Given the description of an element on the screen output the (x, y) to click on. 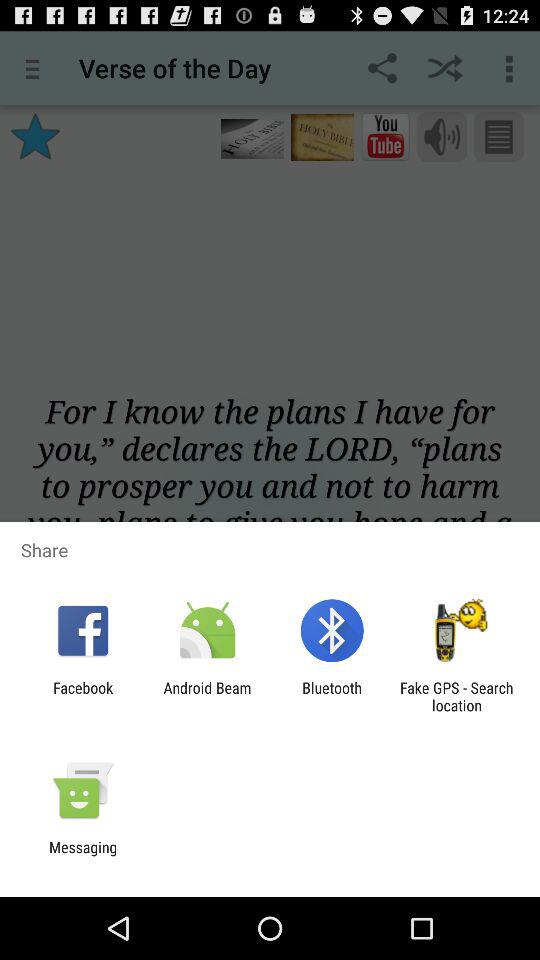
turn off the fake gps search item (456, 696)
